Given the description of an element on the screen output the (x, y) to click on. 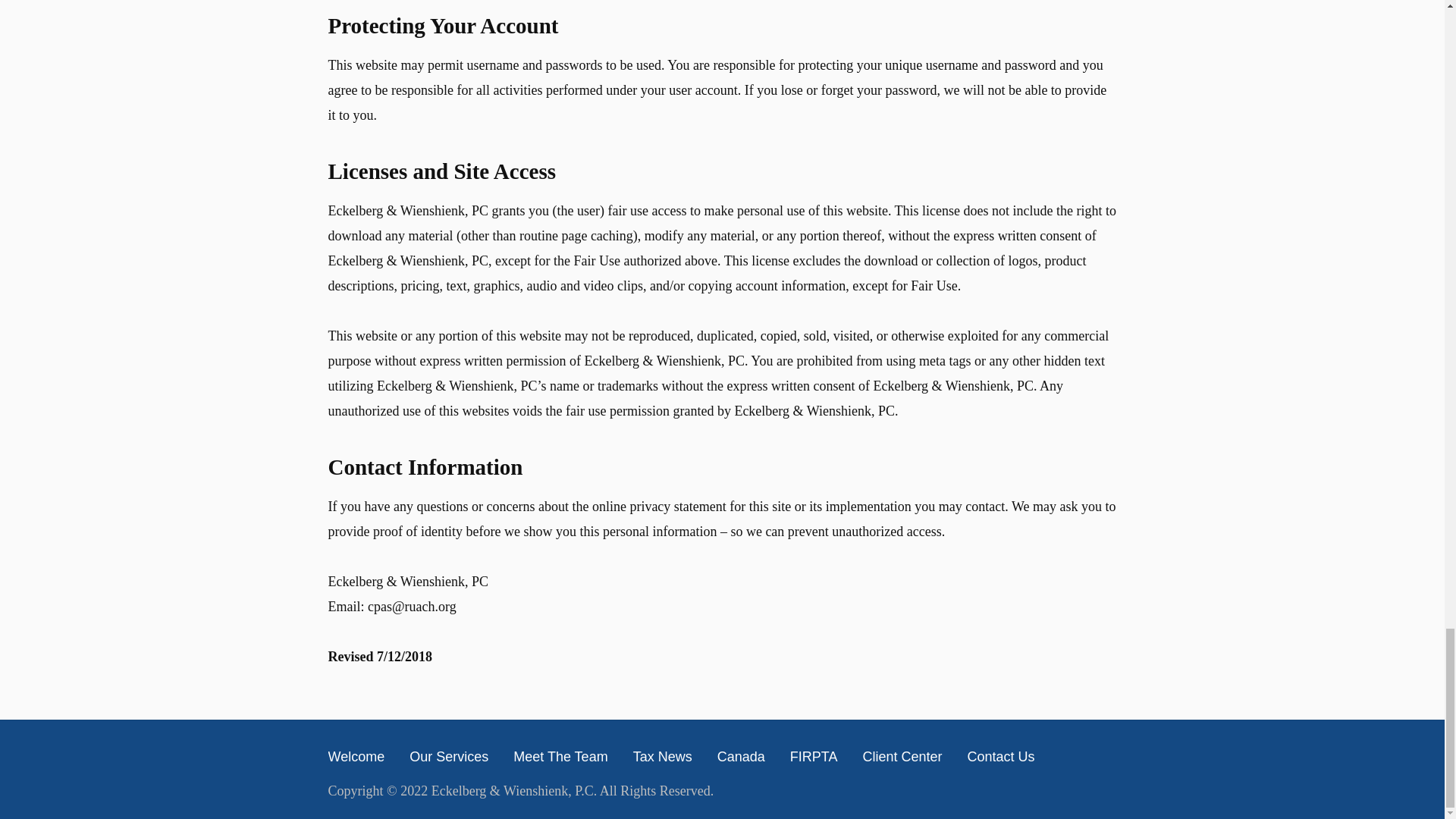
Our Services (448, 756)
FIRPTA (814, 756)
Canada (741, 756)
Tax News (663, 756)
Contact Us (999, 756)
Client Center (901, 756)
Meet The Team (560, 756)
Welcome (355, 756)
